Given the description of an element on the screen output the (x, y) to click on. 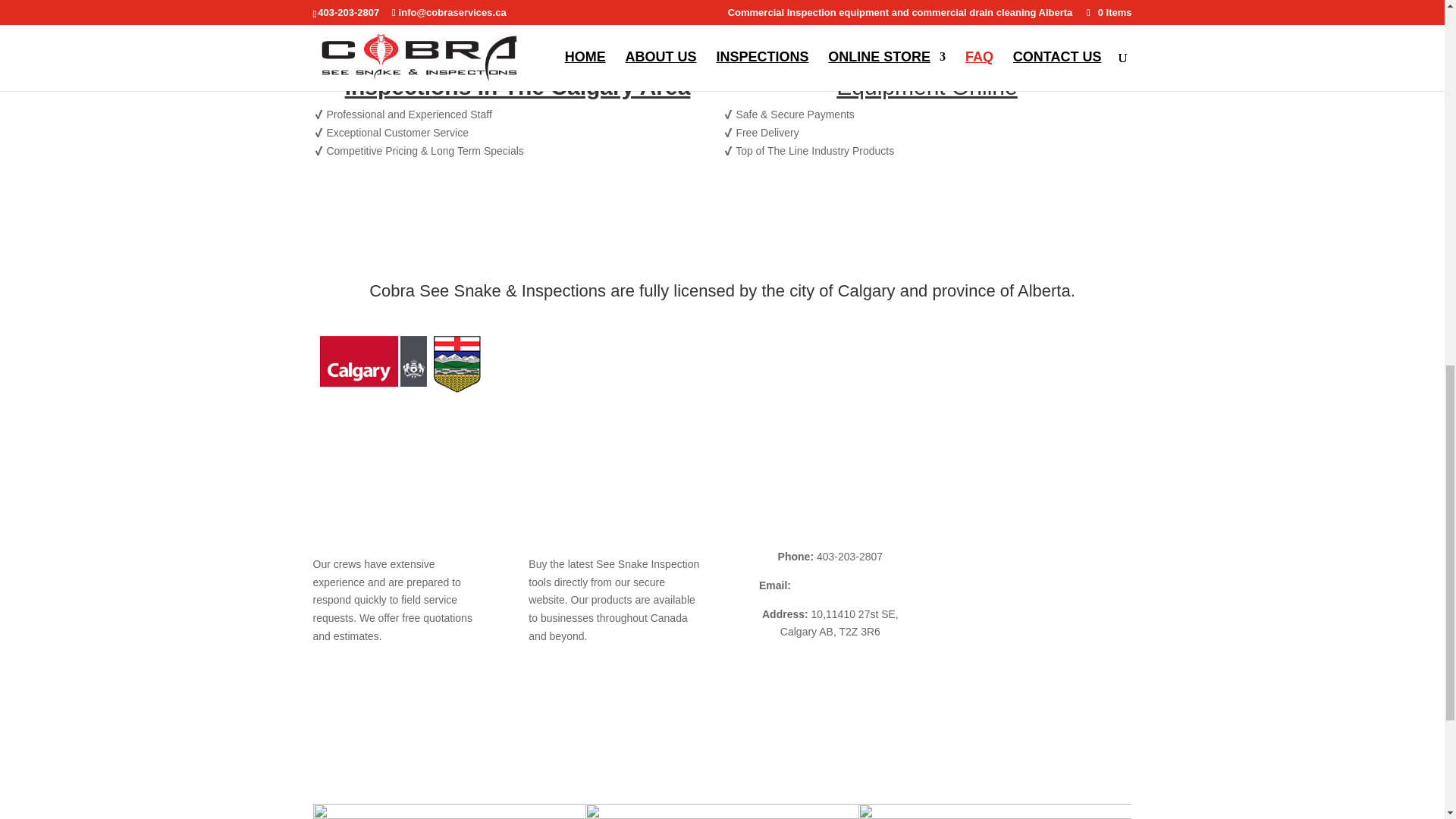
About Us (983, 556)
COMMERCIAL DRAIN CAMERA INSPECTIONS CALGARY (392, 536)
Home (975, 527)
ONLINE COMMERCIAL SEE SNAKE INSPECTION STORE (600, 536)
cobra-services-logo (927, 75)
city-logos (449, 811)
Inspections (399, 363)
dandt-plumbing (990, 585)
Online Store (995, 811)
